Given the description of an element on the screen output the (x, y) to click on. 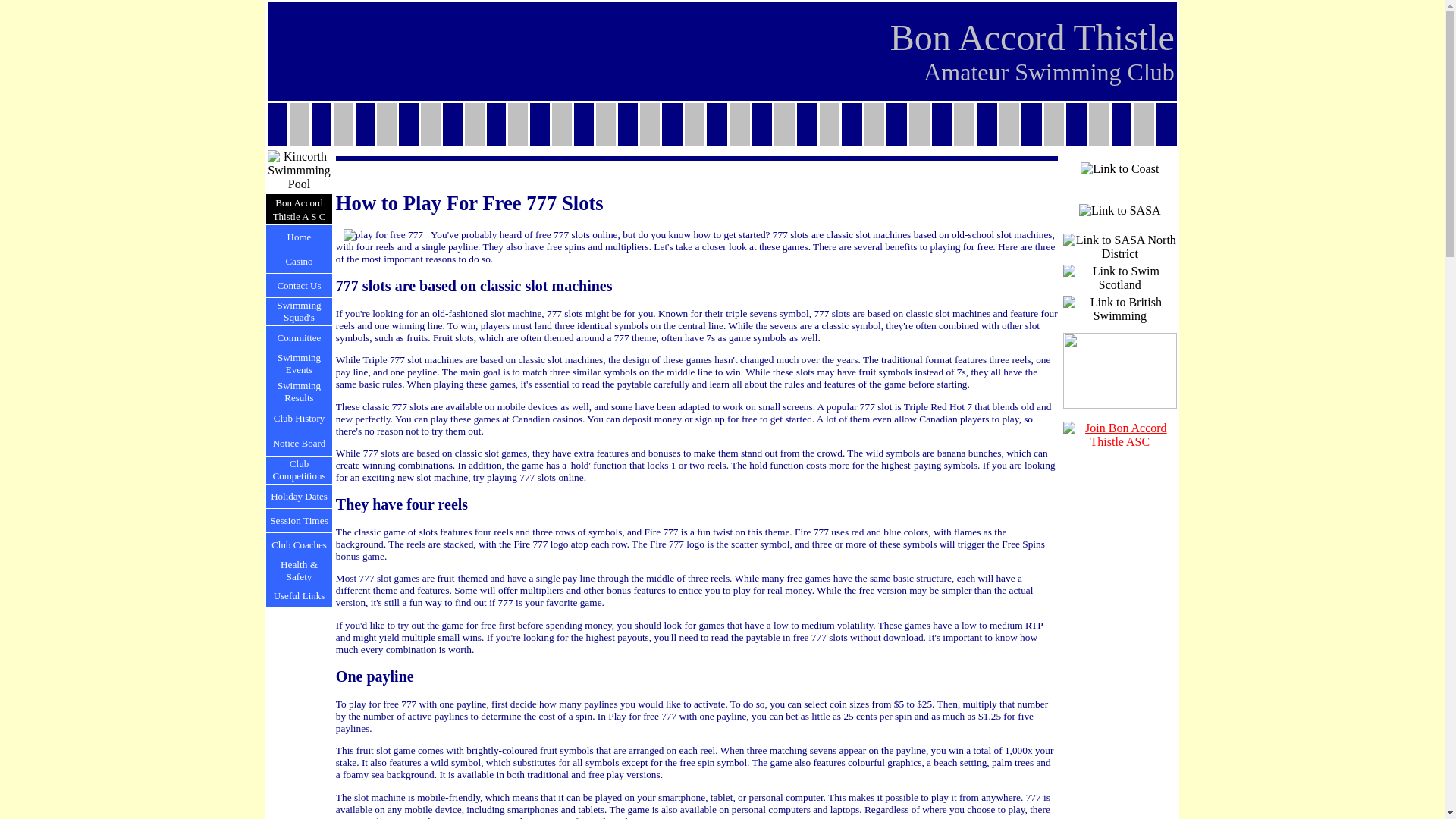
Swimming Squad (298, 310)
Casino (299, 260)
Club Coaches (298, 543)
Holiday Dates (298, 495)
Club History (298, 418)
Club Competitions (298, 469)
Committee (299, 337)
Notice Board (299, 442)
Swimming Events (299, 363)
Home (298, 235)
Swimming Results (299, 391)
Contact Us (298, 284)
Links (313, 595)
Session Times (299, 519)
